Given the description of an element on the screen output the (x, y) to click on. 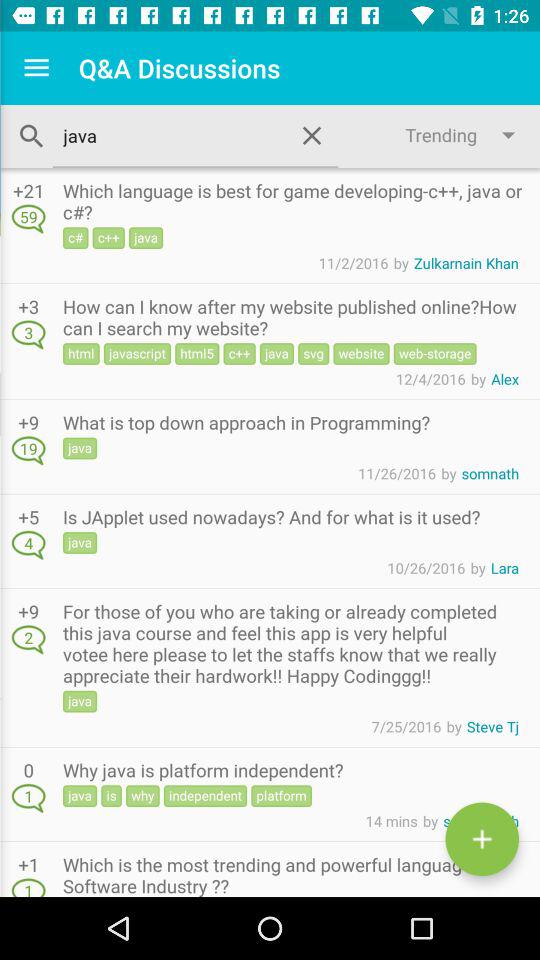
select search button on page (31, 135)
